Given the description of an element on the screen output the (x, y) to click on. 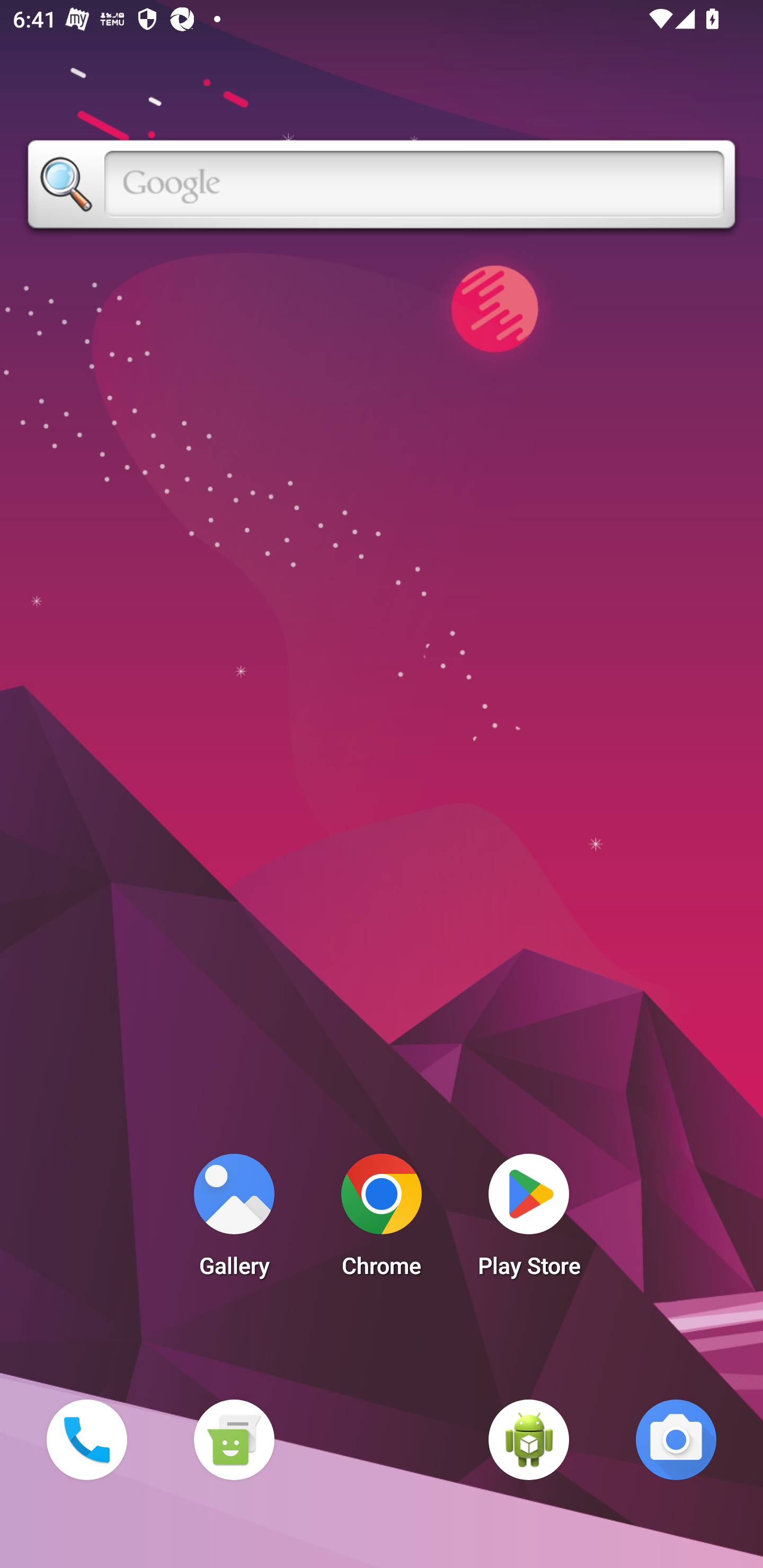
Gallery (233, 1220)
Chrome (381, 1220)
Play Store (528, 1220)
Phone (86, 1439)
Messaging (233, 1439)
WebView Browser Tester (528, 1439)
Camera (676, 1439)
